Given the description of an element on the screen output the (x, y) to click on. 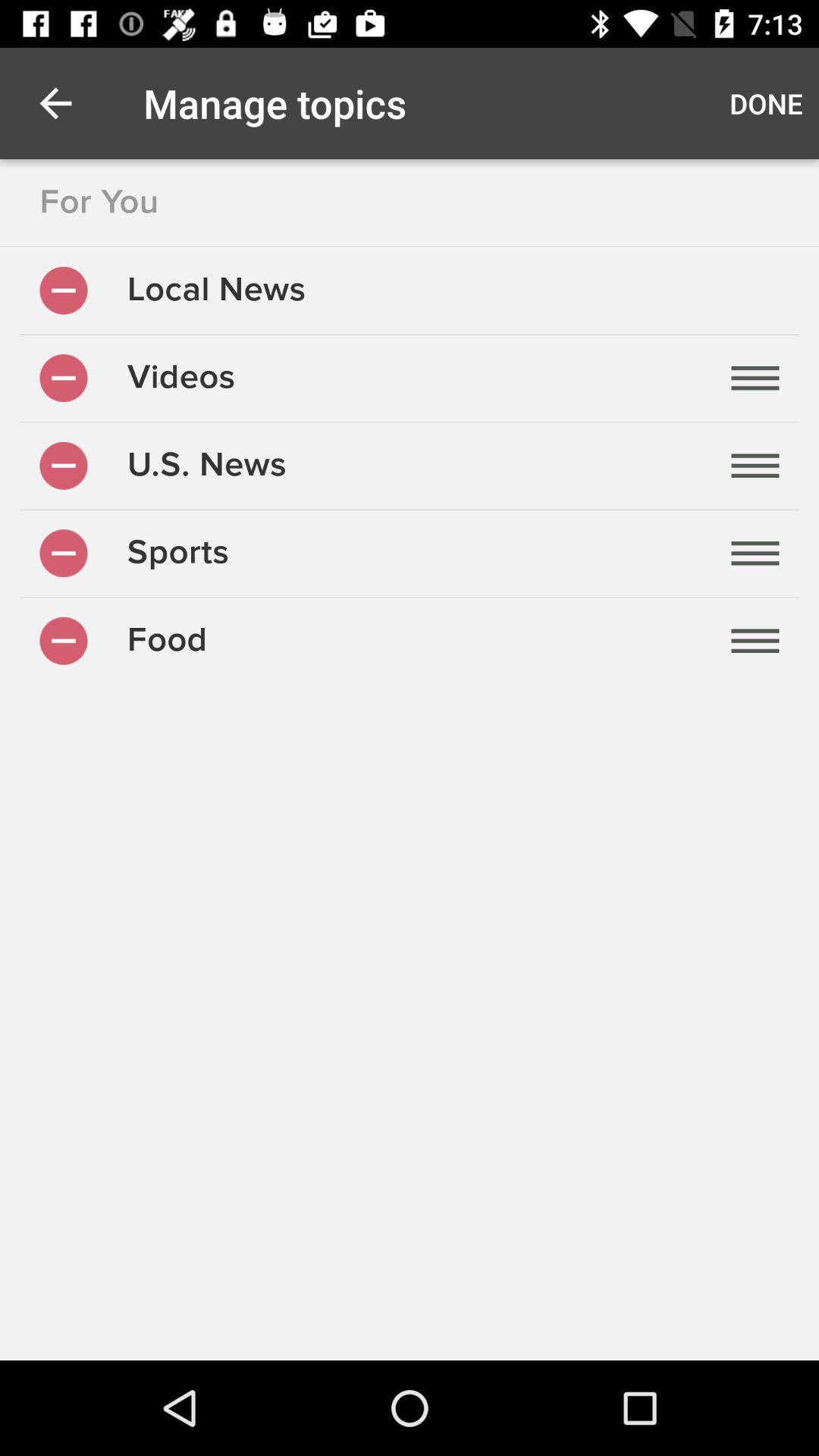
delete topic (63, 465)
